Given the description of an element on the screen output the (x, y) to click on. 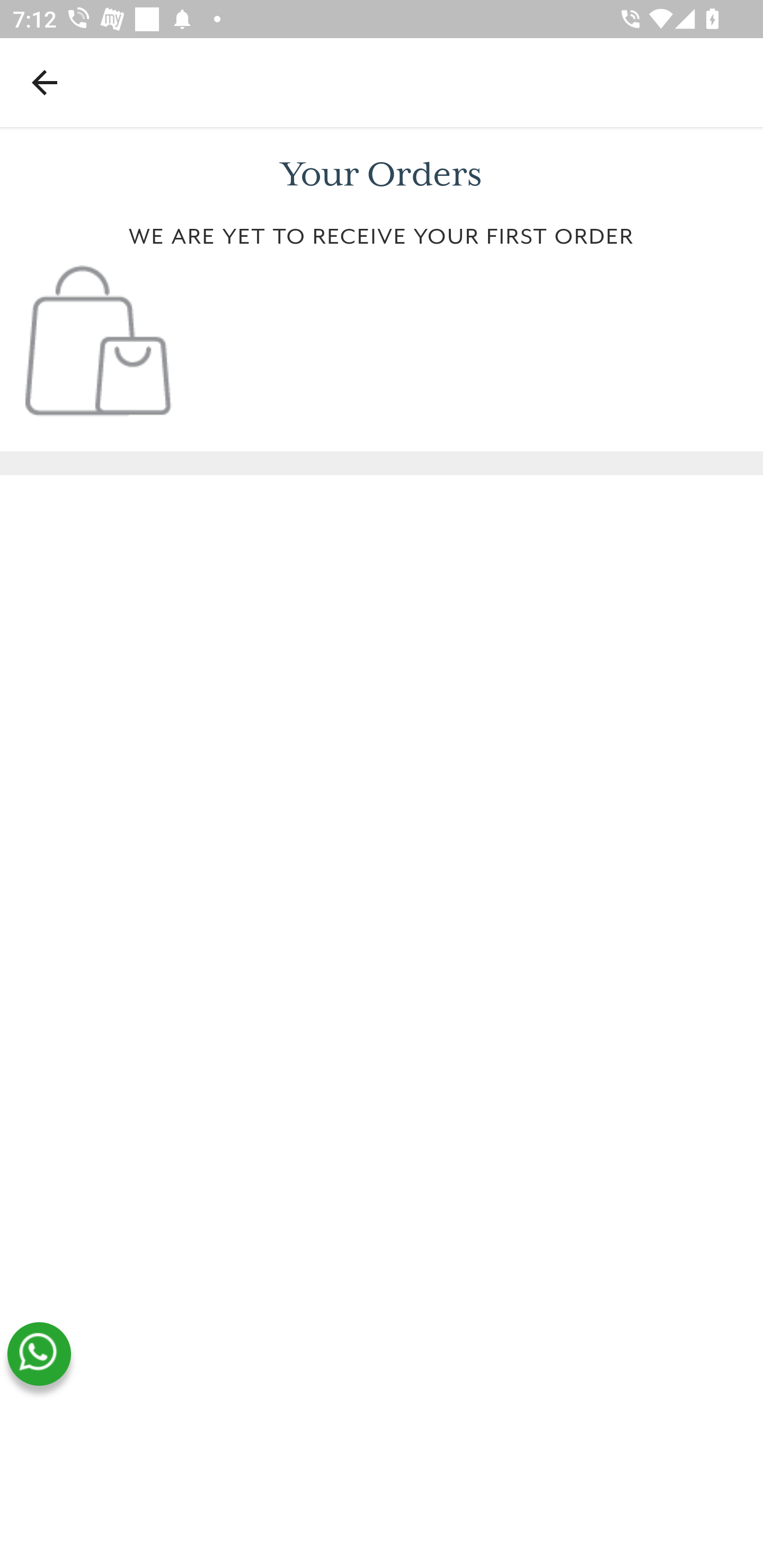
Navigate up (44, 82)
whatsapp (38, 1353)
